Given the description of an element on the screen output the (x, y) to click on. 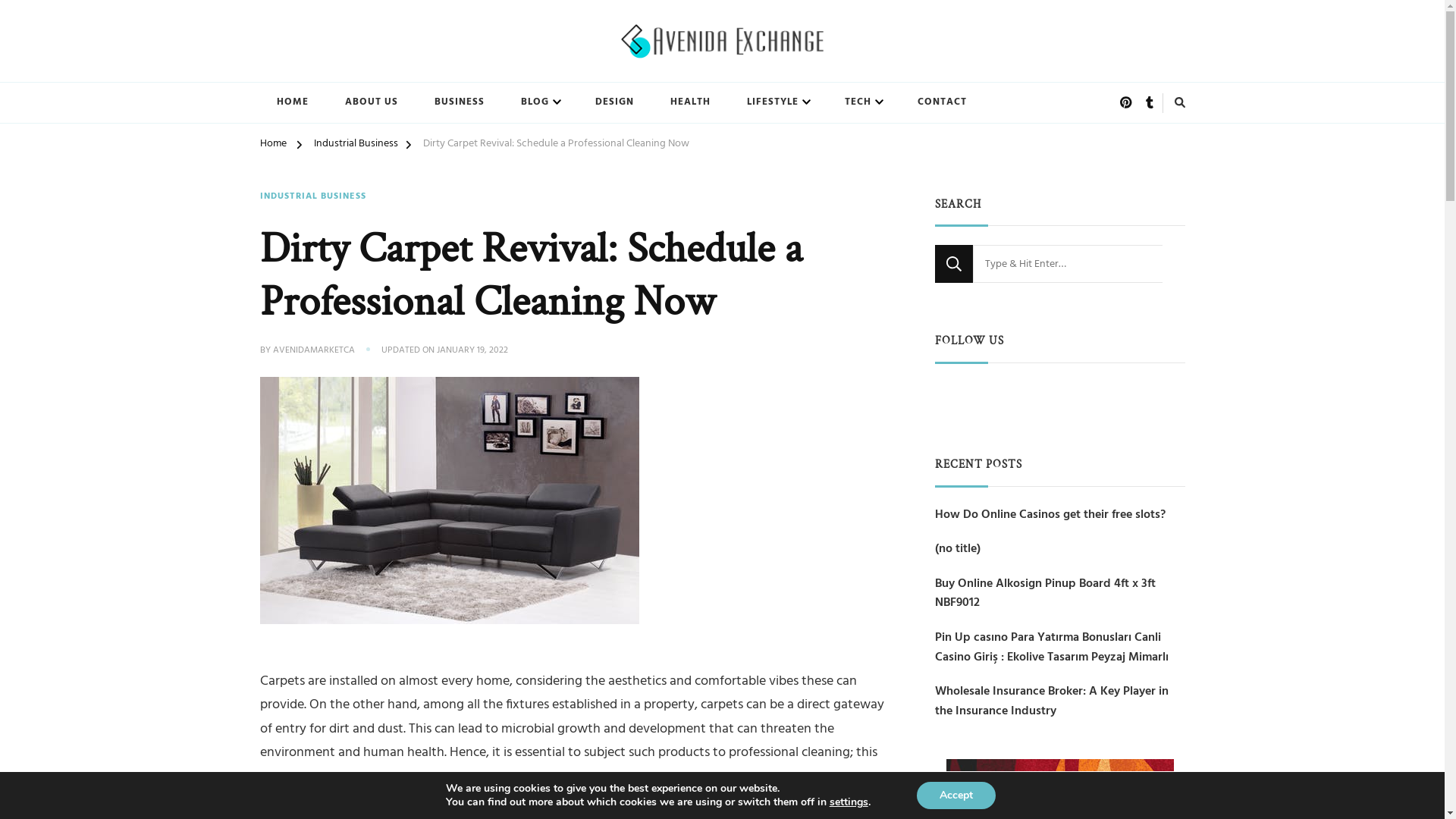
Search Element type: text (953, 263)
HEALTH Element type: text (690, 102)
HOME Element type: text (291, 102)
BUSINESS Element type: text (458, 102)
BLOG Element type: text (538, 102)
Industrial Business Element type: text (355, 145)
INDUSTRIAL BUSINESS Element type: text (312, 196)
settings Element type: text (848, 802)
Dirty Carpet Revival: Schedule a Professional Cleaning Now Element type: text (556, 145)
JANUARY 19, 2022 Element type: text (472, 350)
(no title) Element type: text (956, 549)
DESIGN Element type: text (613, 102)
Accept Element type: text (955, 795)
AVENIDAMARKETCA Element type: text (313, 350)
How Do Online Casinos get their free slots? Element type: text (1049, 515)
Avenida Exchange Element type: text (350, 73)
Home Element type: text (272, 145)
CONTACT Element type: text (941, 102)
LIFESTYLE Element type: text (776, 102)
Buy Online Alkosign Pinup Board 4ft x 3ft NBF9012 Element type: text (1059, 593)
ABOUT US Element type: text (370, 102)
TECH Element type: text (862, 102)
